Given the description of an element on the screen output the (x, y) to click on. 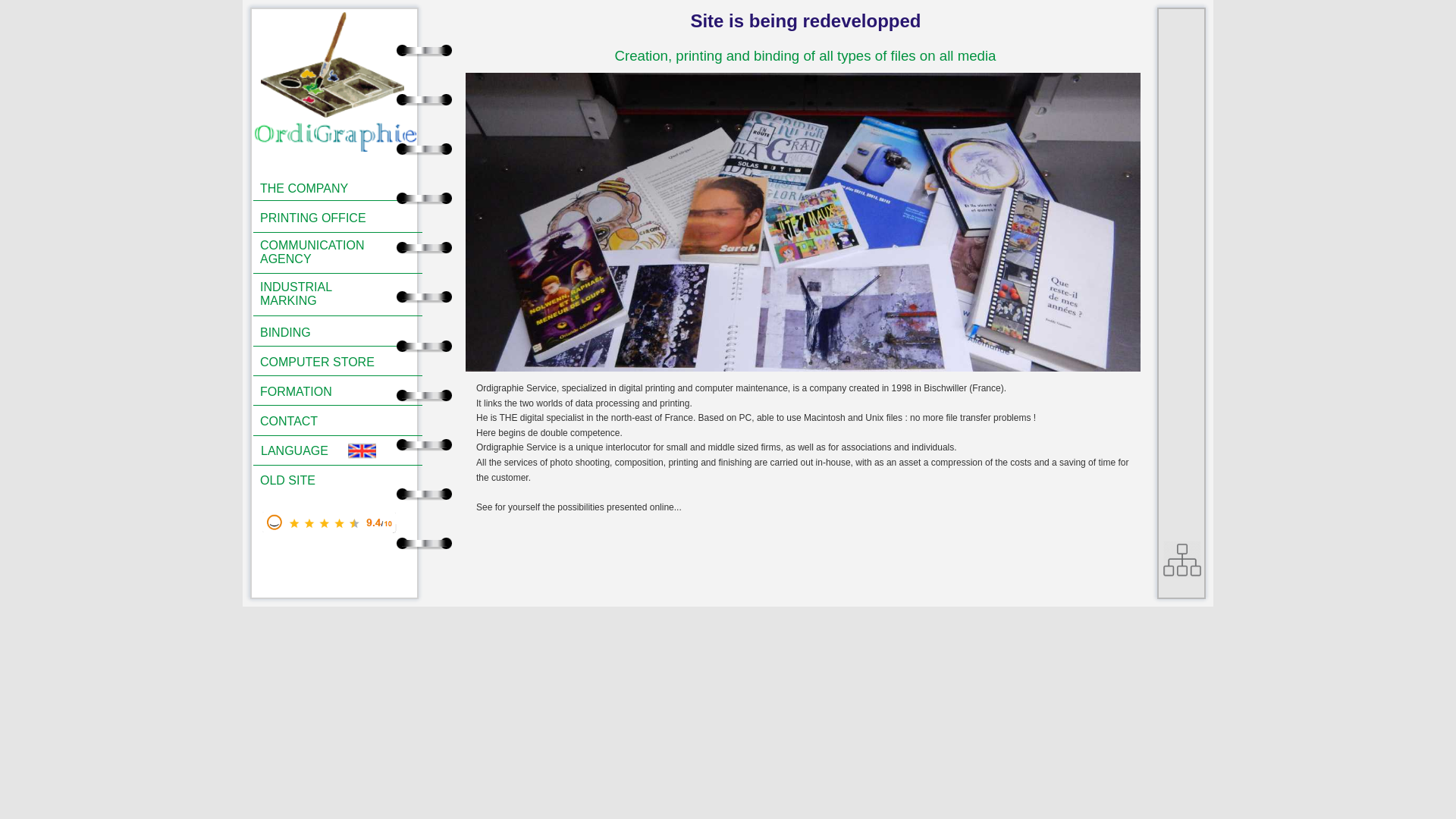
LANGUAGE (301, 450)
Site Map (1182, 559)
PRINTING OFFICE (328, 218)
Instagram site (1183, 33)
COMMUNICATION AGENCY (328, 256)
FORMATION (328, 391)
BINDING (328, 332)
Customers reviews (328, 522)
COMPUTER STORE (328, 362)
Home (354, 64)
